Given the description of an element on the screen output the (x, y) to click on. 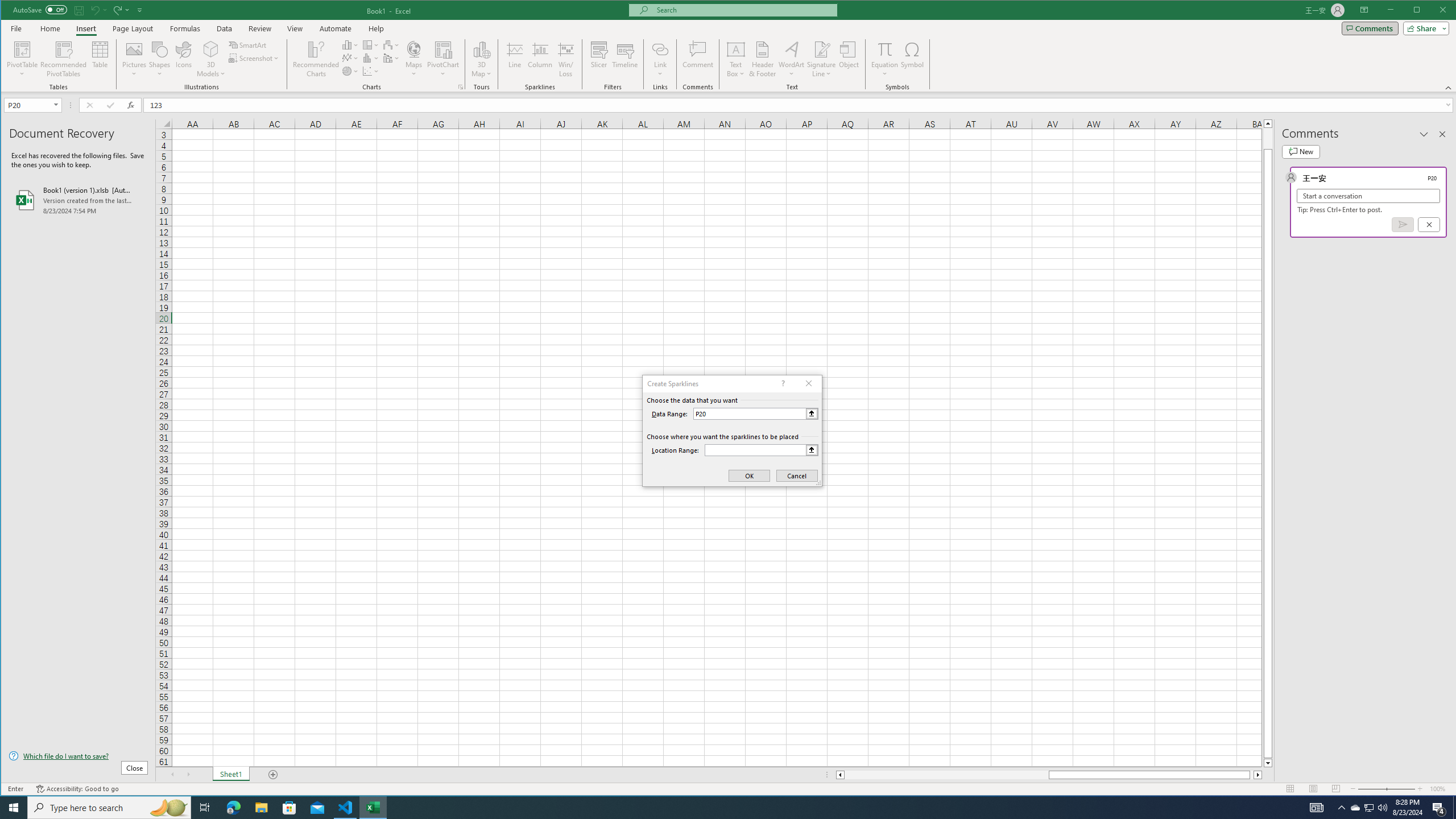
Screenshot (254, 57)
PivotTable (22, 59)
3D Models (211, 59)
Draw Horizontal Text Box (735, 48)
Text Box (735, 59)
Insert Line or Area Chart (350, 57)
Equation (884, 48)
Insert Column or Bar Chart (350, 44)
Pictures (134, 59)
Insert Scatter (X, Y) or Bubble Chart (371, 70)
